Given the description of an element on the screen output the (x, y) to click on. 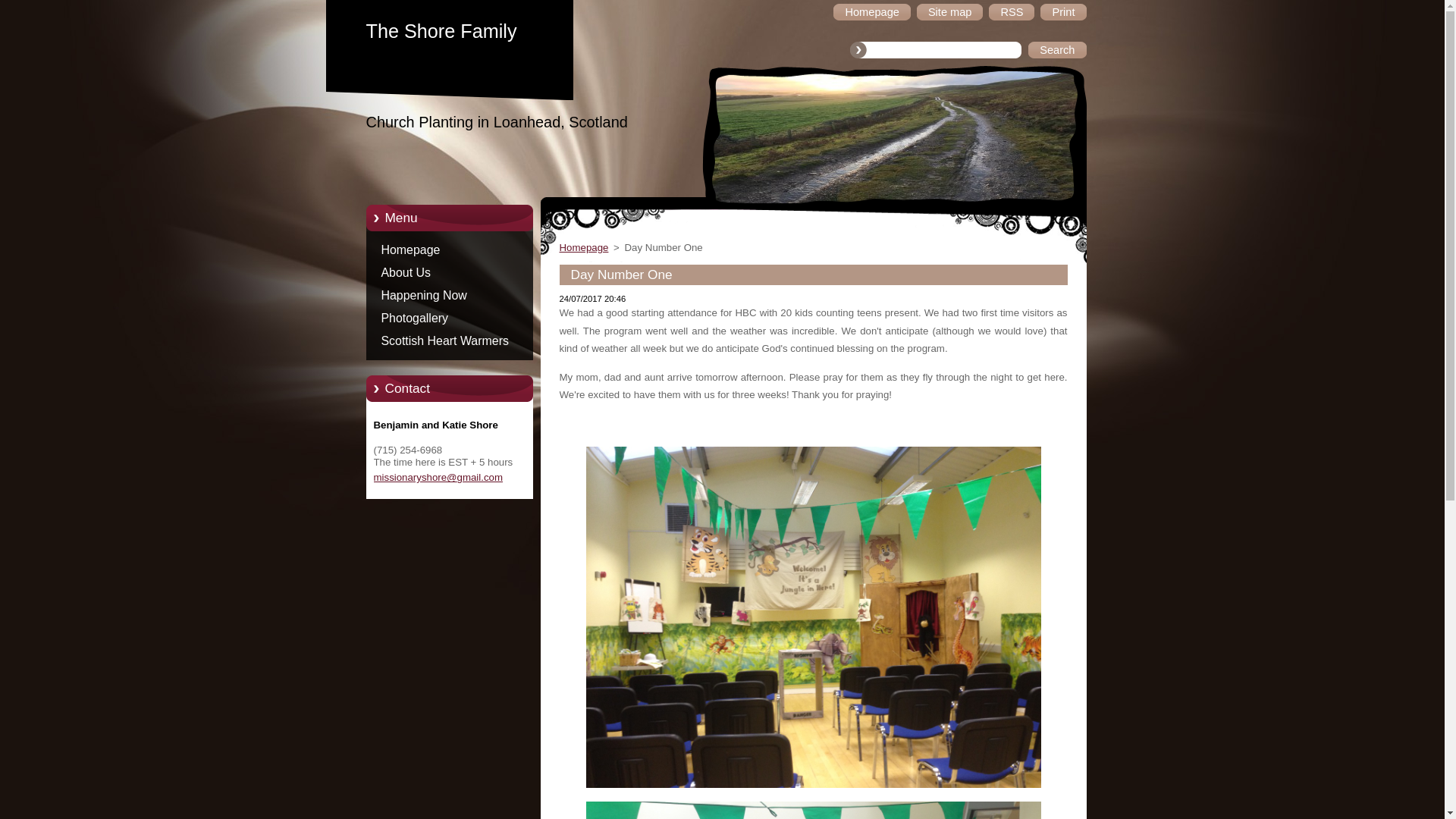
Go to site map. (950, 12)
Print page (1063, 12)
Search (1056, 49)
RSS (1010, 12)
About Us (460, 272)
Scottish Heart Warmers (460, 341)
Search (1056, 49)
The Shore Family (459, 31)
RSS Feeds (1010, 12)
Go to Homepage. (871, 12)
Photogallery (460, 318)
Homepage (583, 247)
Go to Homepage. (459, 31)
Print (1063, 12)
Homepage (871, 12)
